Given the description of an element on the screen output the (x, y) to click on. 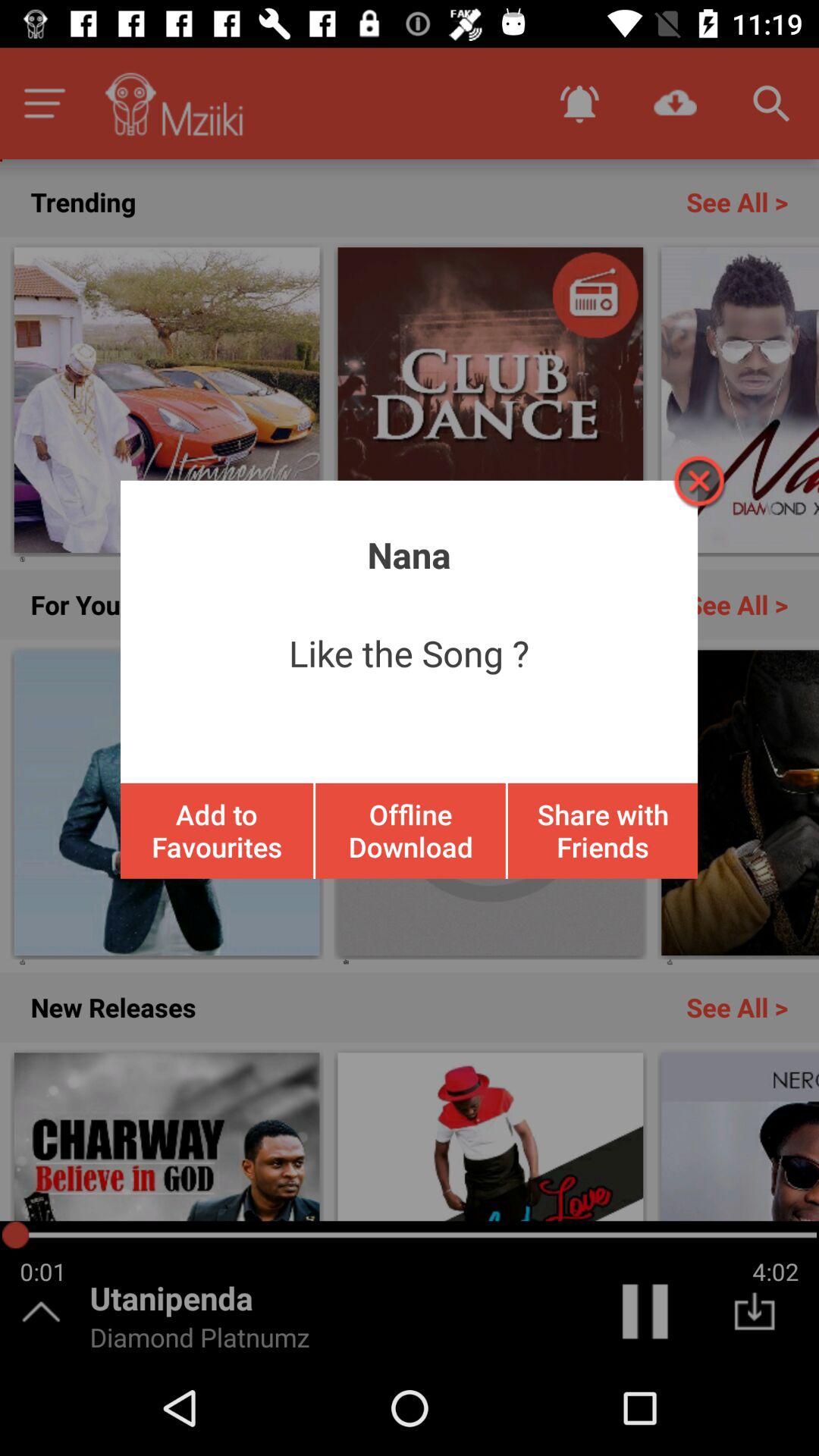
turn on share with friends item (602, 830)
